Given the description of an element on the screen output the (x, y) to click on. 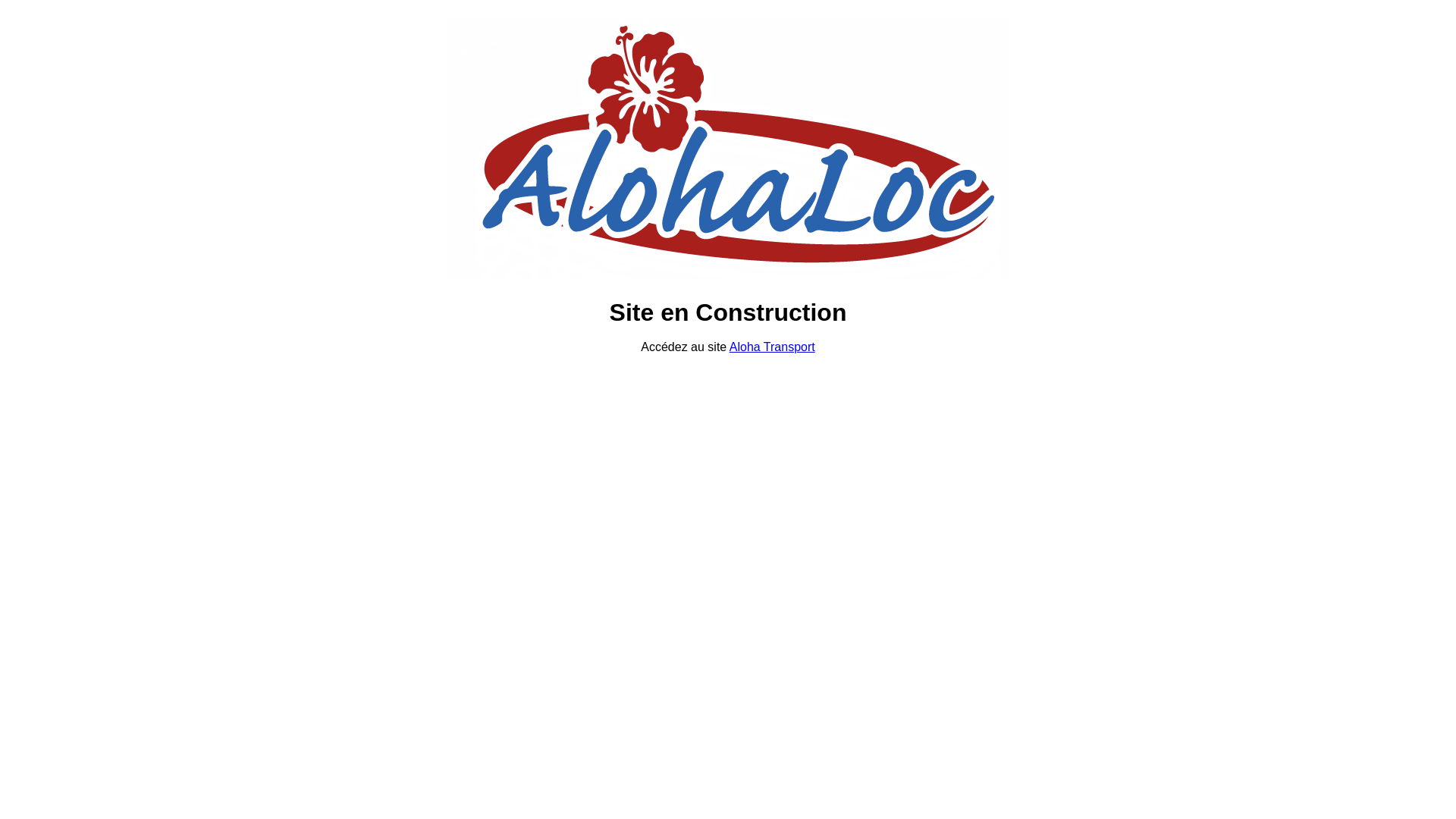
Aloha Transport Element type: text (772, 346)
